Given the description of an element on the screen output the (x, y) to click on. 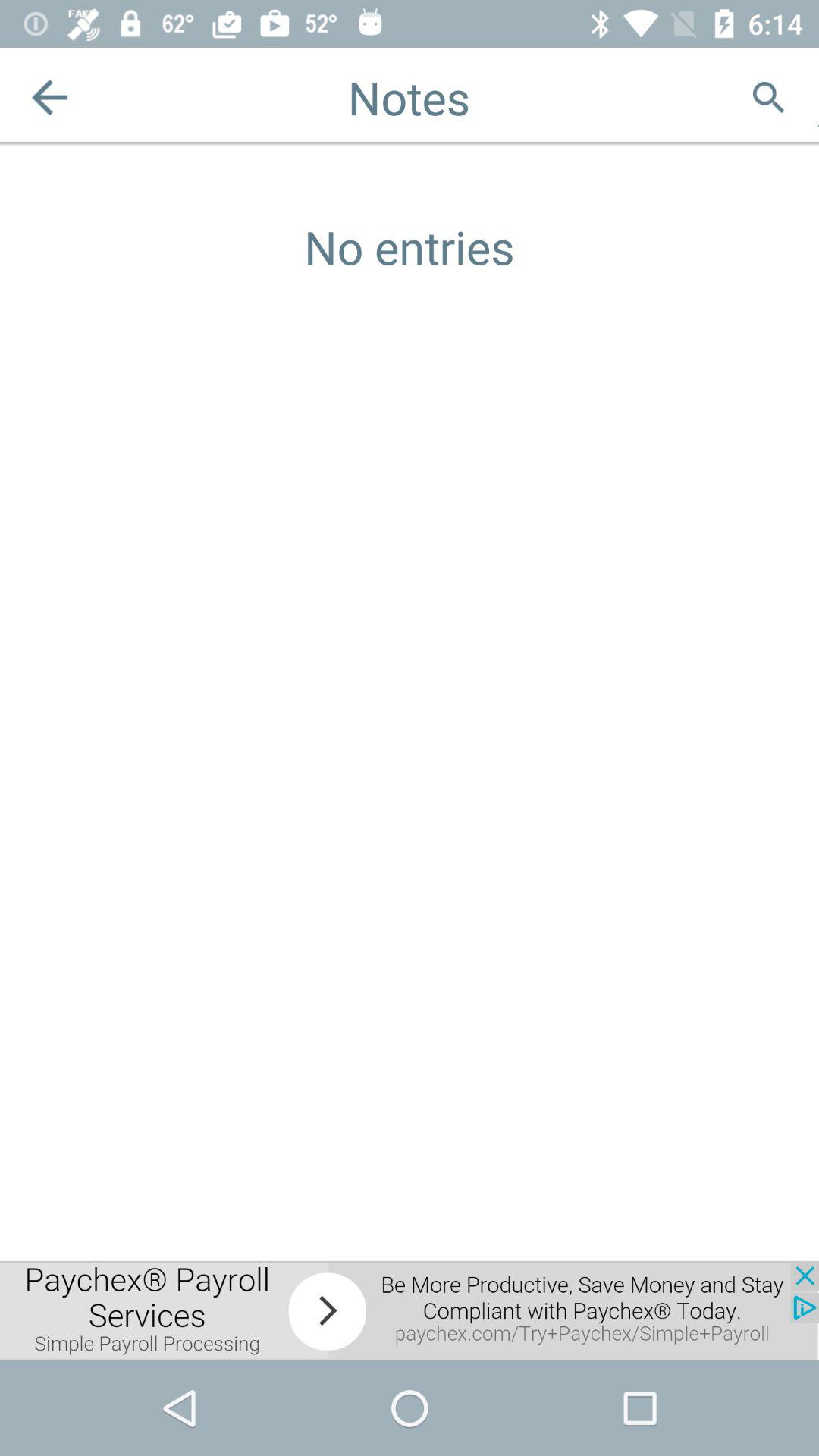
go to previous (49, 97)
